Given the description of an element on the screen output the (x, y) to click on. 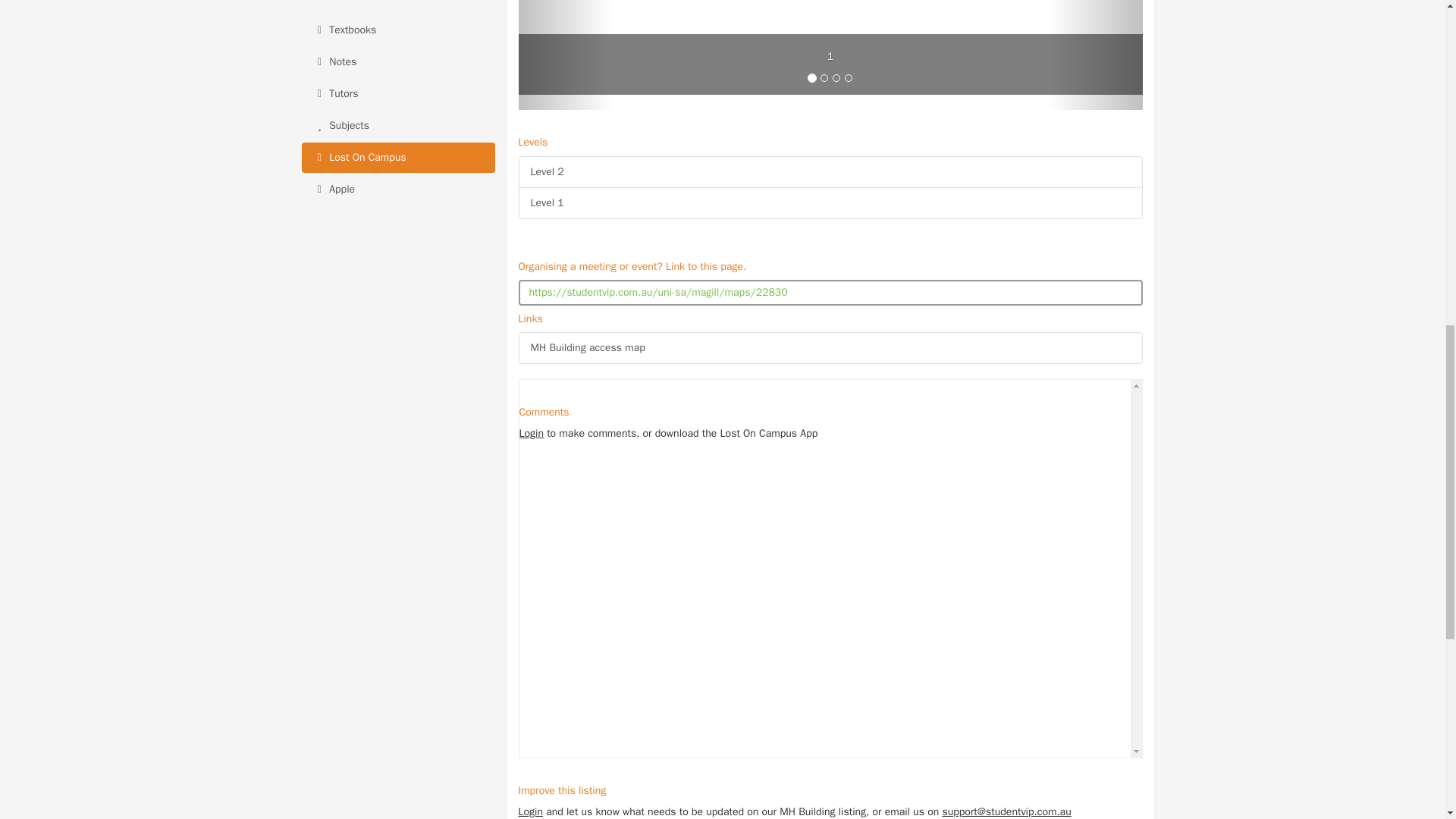
Level 1 (830, 203)
Level 2 (830, 172)
MH Building access map (830, 347)
